Given the description of an element on the screen output the (x, y) to click on. 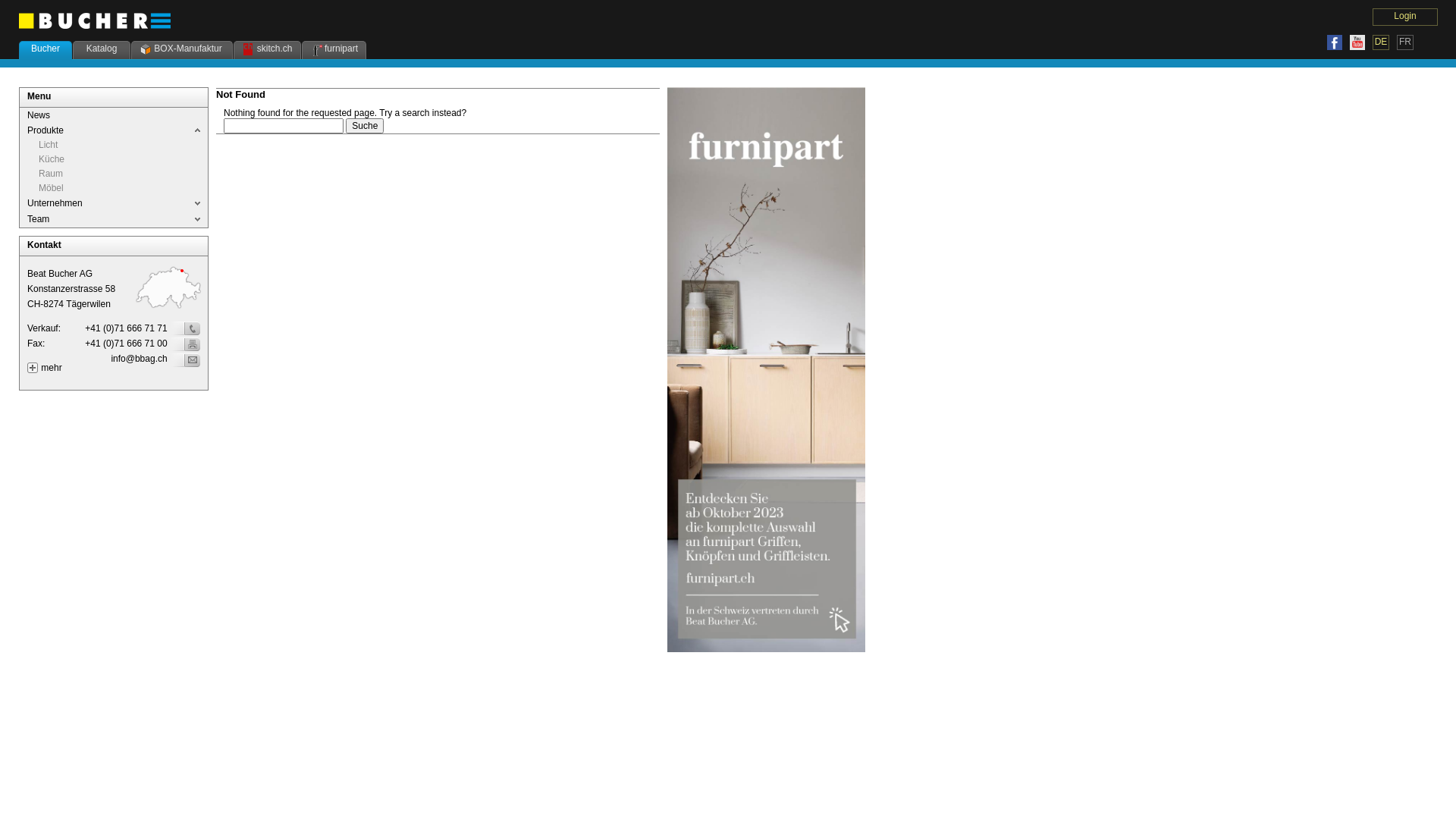
Raum Element type: text (50, 173)
Bucher Element type: text (45, 49)
Katalog Element type: text (101, 49)
furnipart Element type: text (333, 49)
 skitch.ch Element type: text (267, 49)
FR Element type: text (1404, 41)
Suche Element type: text (364, 125)
mehr Element type: text (50, 367)
Licht Element type: text (47, 144)
info@bbag.ch Element type: text (138, 358)
News Element type: text (38, 114)
Beat Bucher AG Element type: hover (94, 20)
BOX-Manufaktur Element type: text (181, 49)
DE Element type: text (1380, 41)
